Given the description of an element on the screen output the (x, y) to click on. 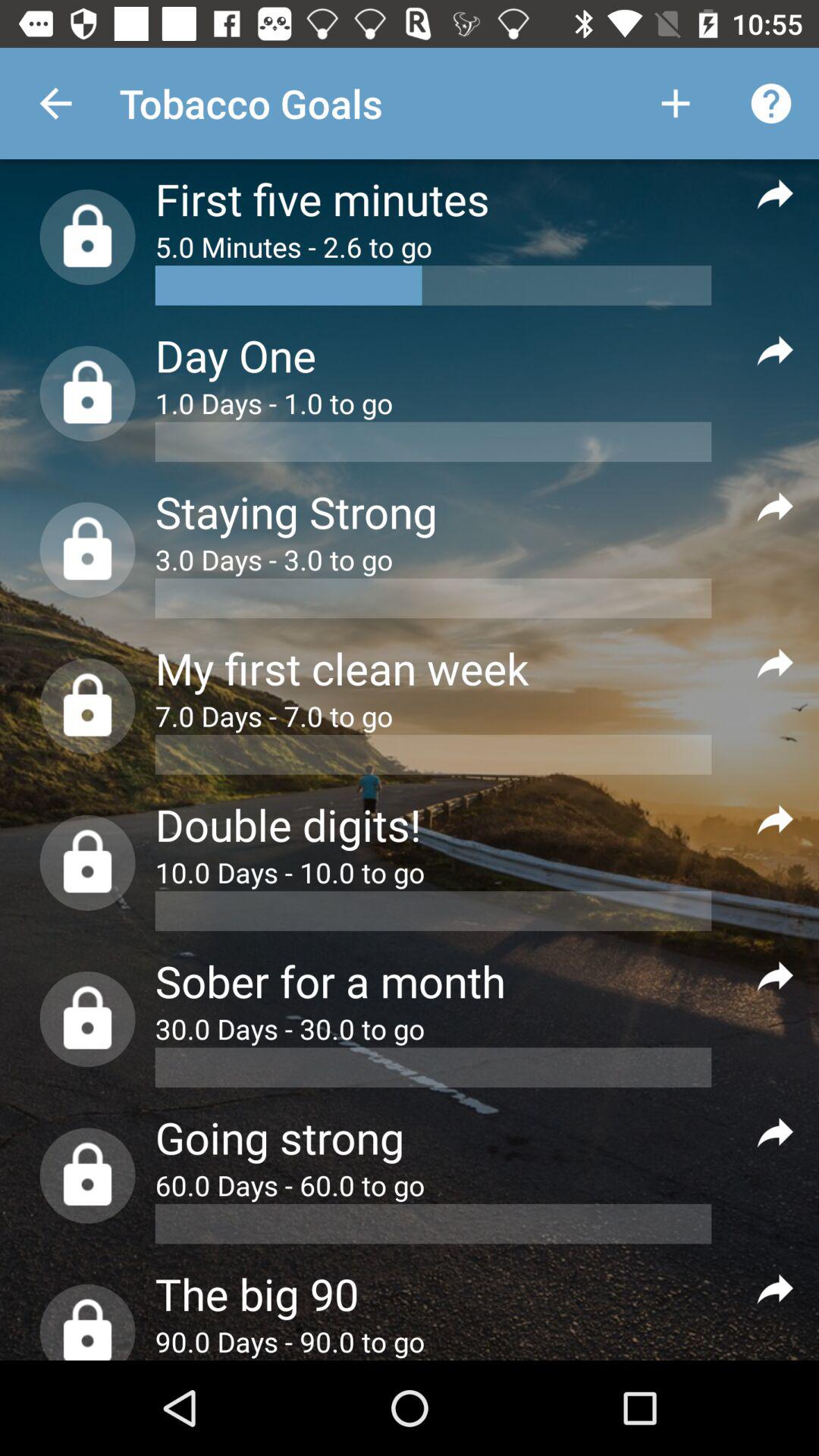
open menu (775, 506)
